Given the description of an element on the screen output the (x, y) to click on. 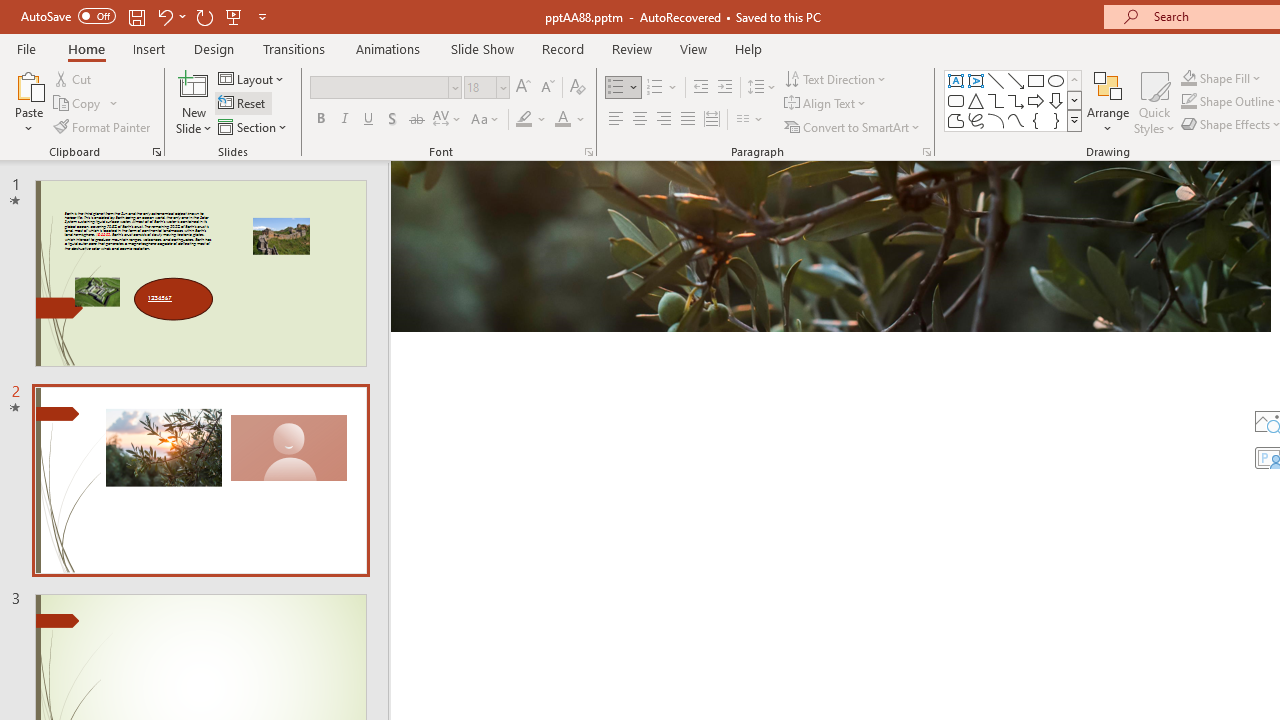
Close up of an olive branch on a sunset (830, 246)
